Given the description of an element on the screen output the (x, y) to click on. 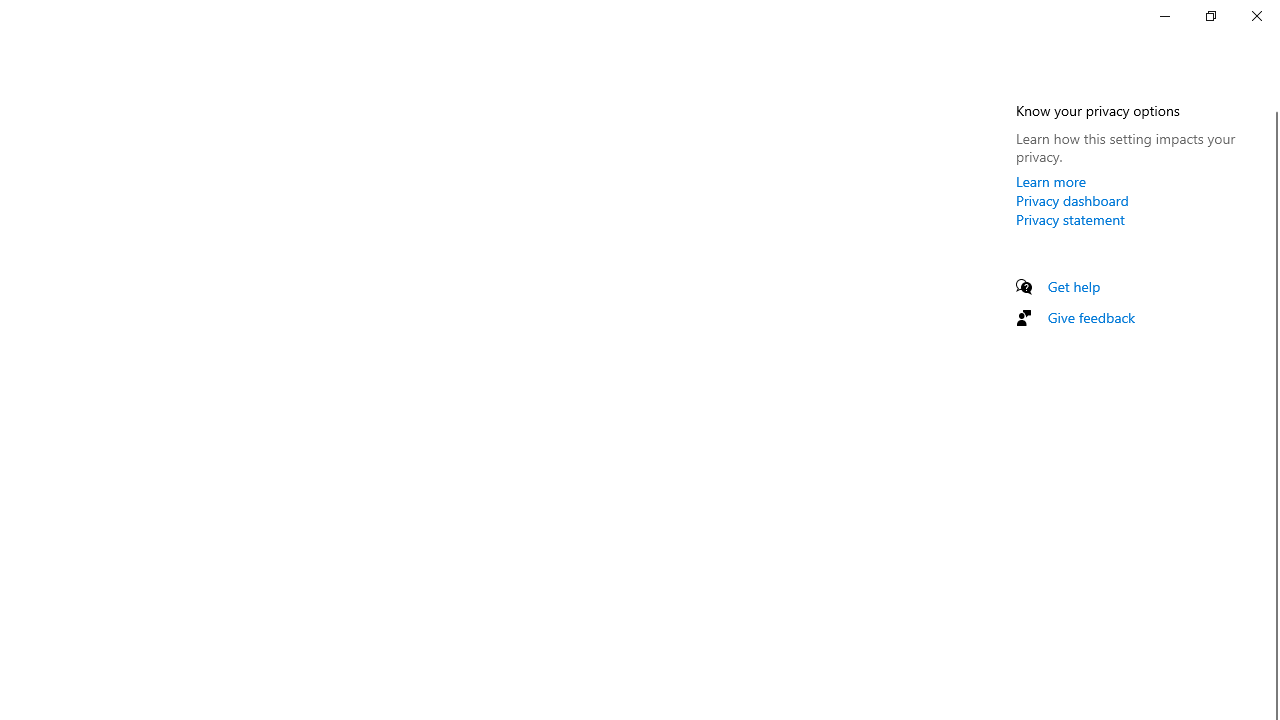
Vertical Small Decrease (1272, 103)
Get help (1074, 286)
Learn more (1051, 181)
Close Settings (1256, 15)
Privacy dashboard (1072, 200)
Restore Settings (1210, 15)
Minimize Settings (1164, 15)
Give feedback (1091, 317)
Privacy statement (1070, 219)
